Given the description of an element on the screen output the (x, y) to click on. 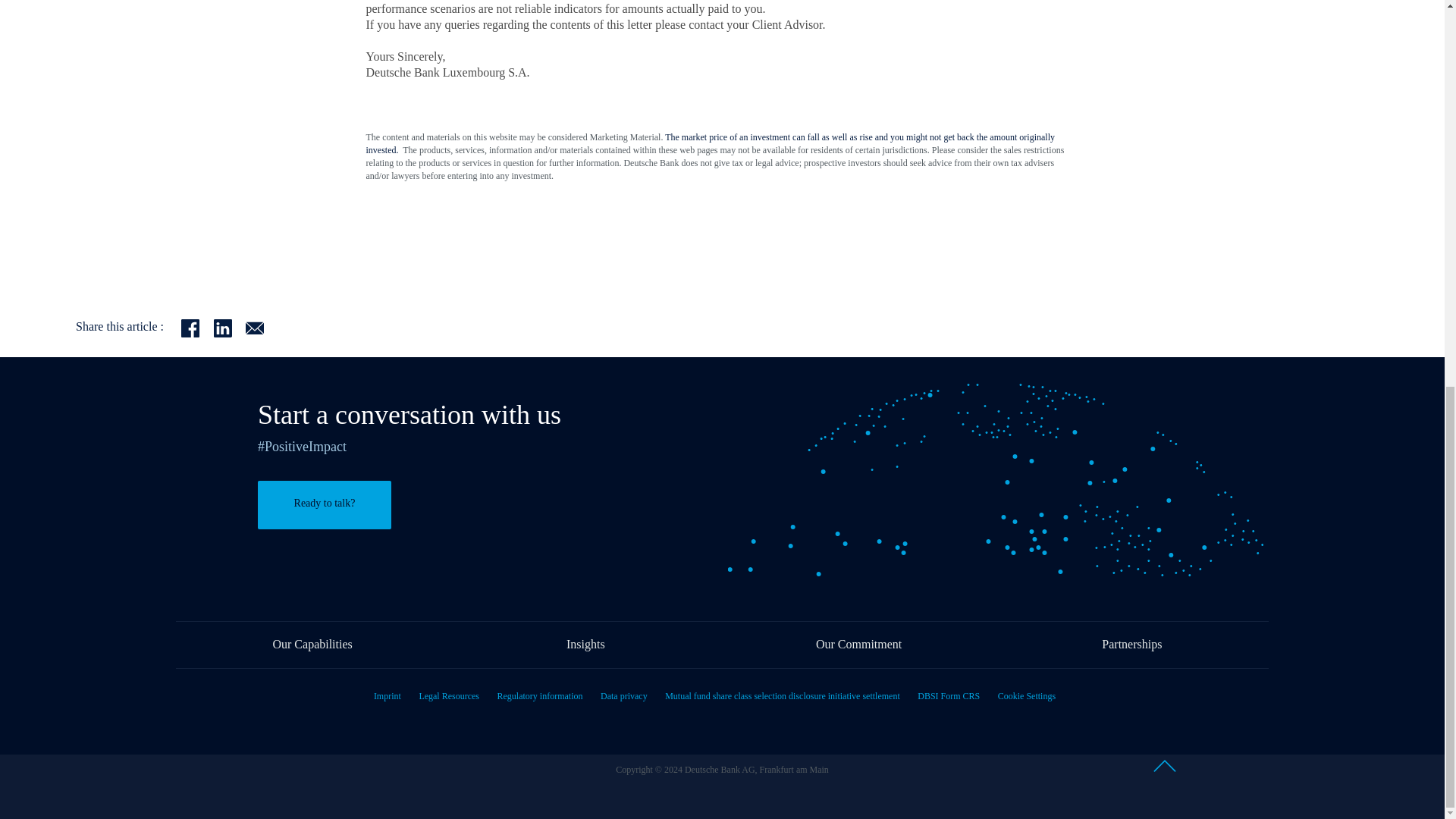
Share on LinkedIn (230, 326)
Share by Email (260, 326)
Share on Facebook (197, 326)
